Given the description of an element on the screen output the (x, y) to click on. 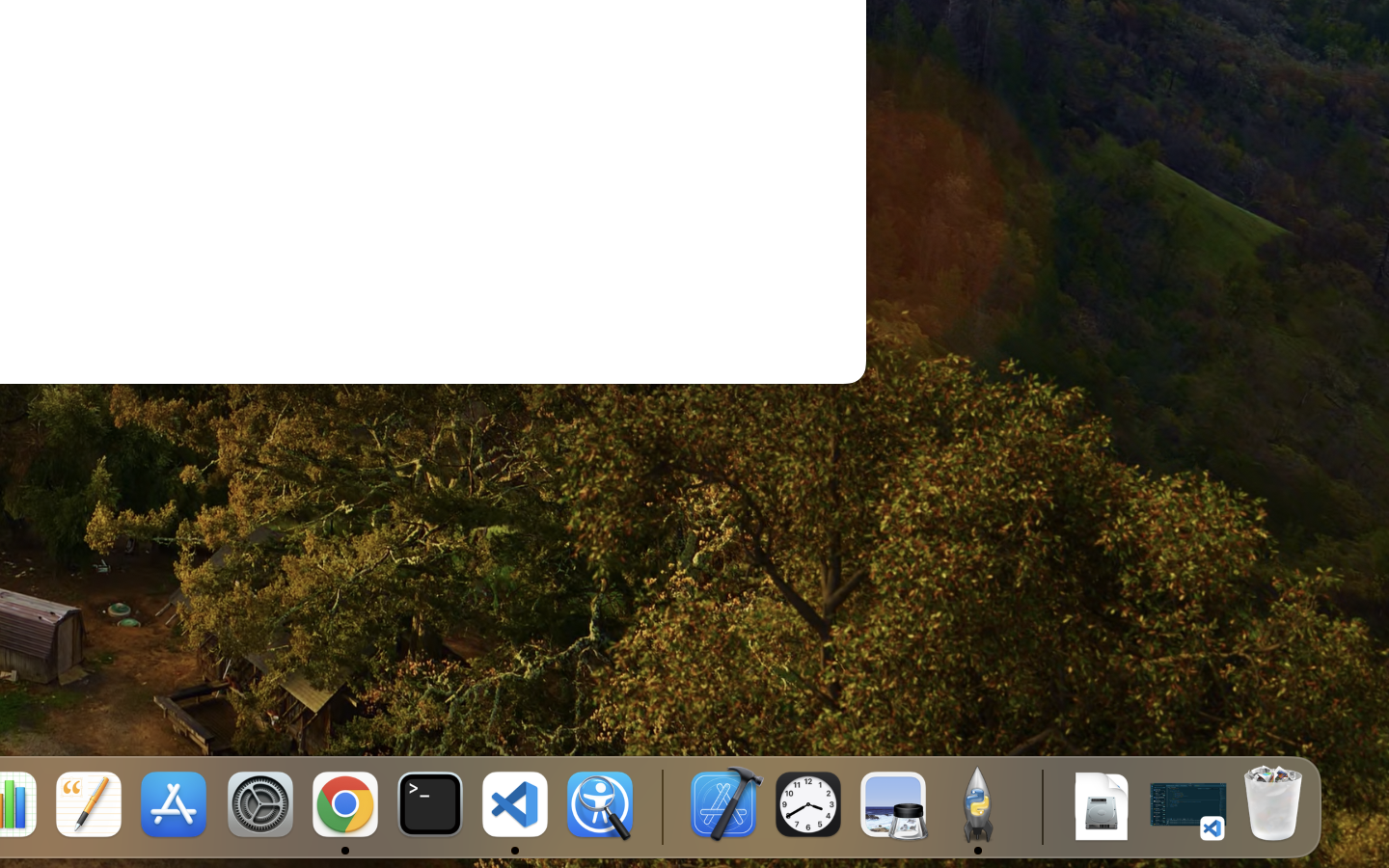
0.4285714328289032 Element type: AXDockItem (660, 805)
